Given the description of an element on the screen output the (x, y) to click on. 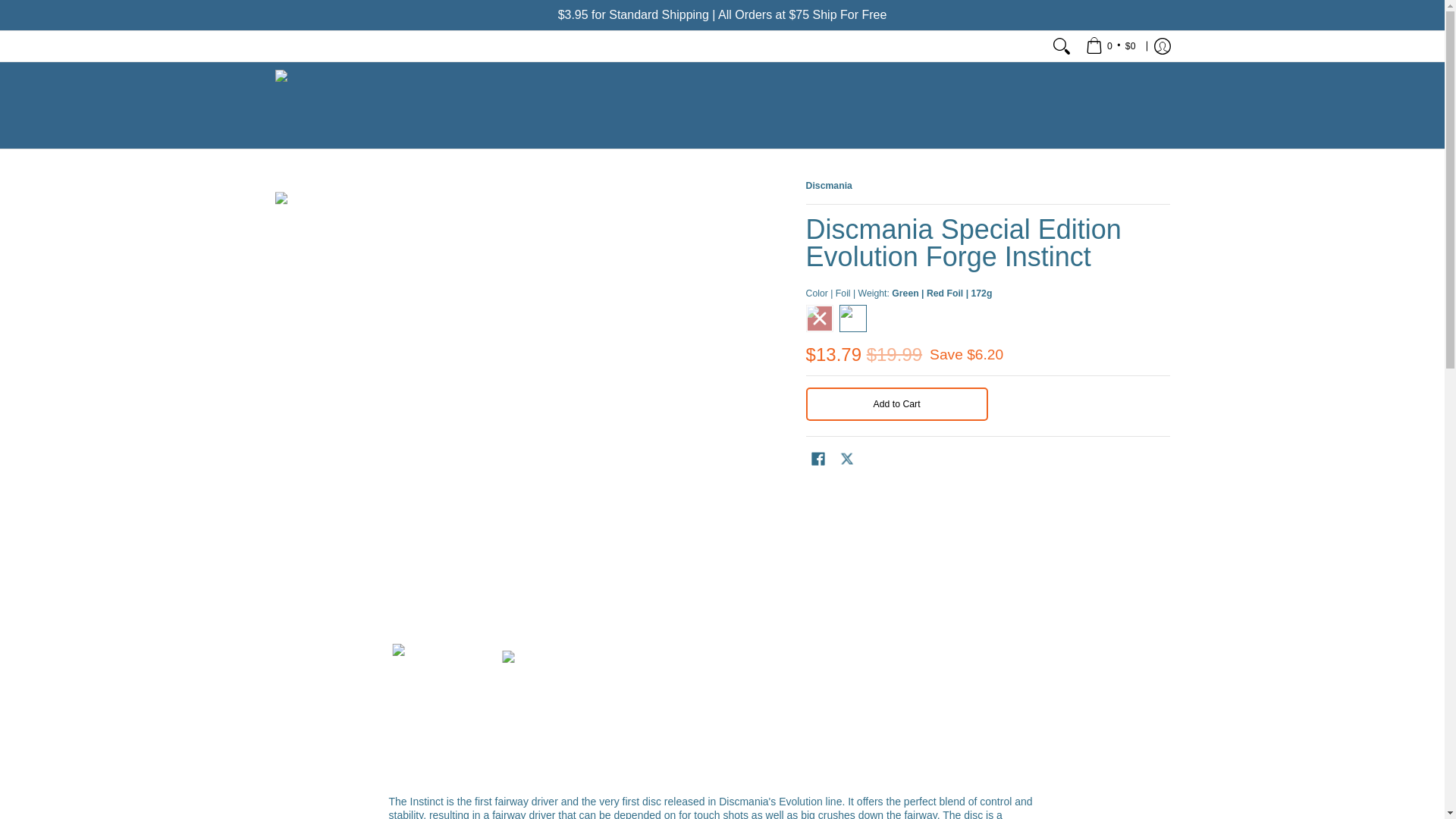
The Disc Depot (369, 105)
Log in (1161, 46)
Cart (1110, 46)
